Given the description of an element on the screen output the (x, y) to click on. 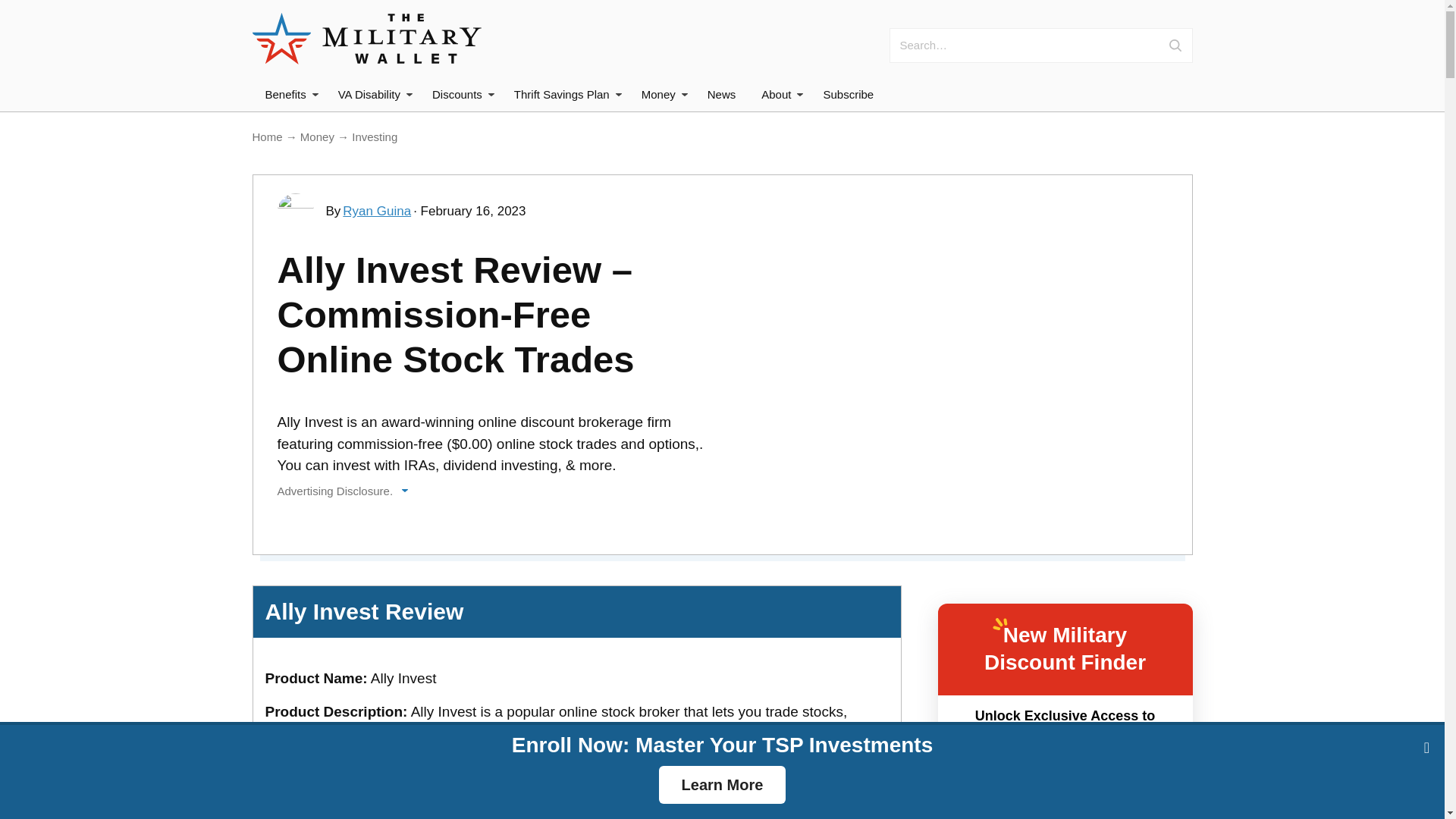
Money (661, 94)
The Military Wallet (365, 38)
VA Disability (372, 94)
Search for (1060, 45)
Thrift Savings Plan (564, 94)
Benefits (288, 94)
Learn More (722, 784)
Discounts (460, 94)
